Given the description of an element on the screen output the (x, y) to click on. 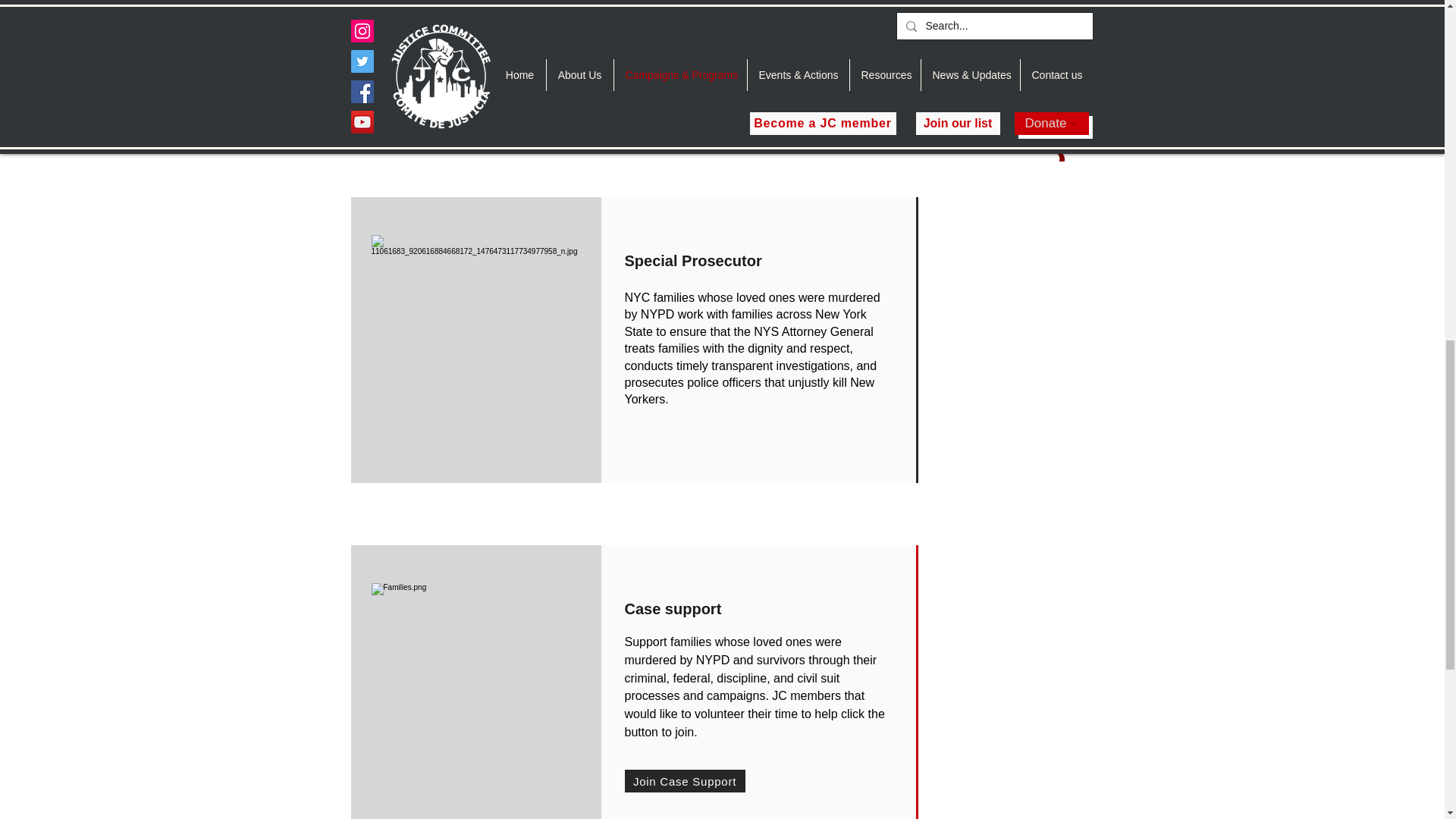
Join Case Support (684, 780)
Become a rapid responder (705, 97)
